Given the description of an element on the screen output the (x, y) to click on. 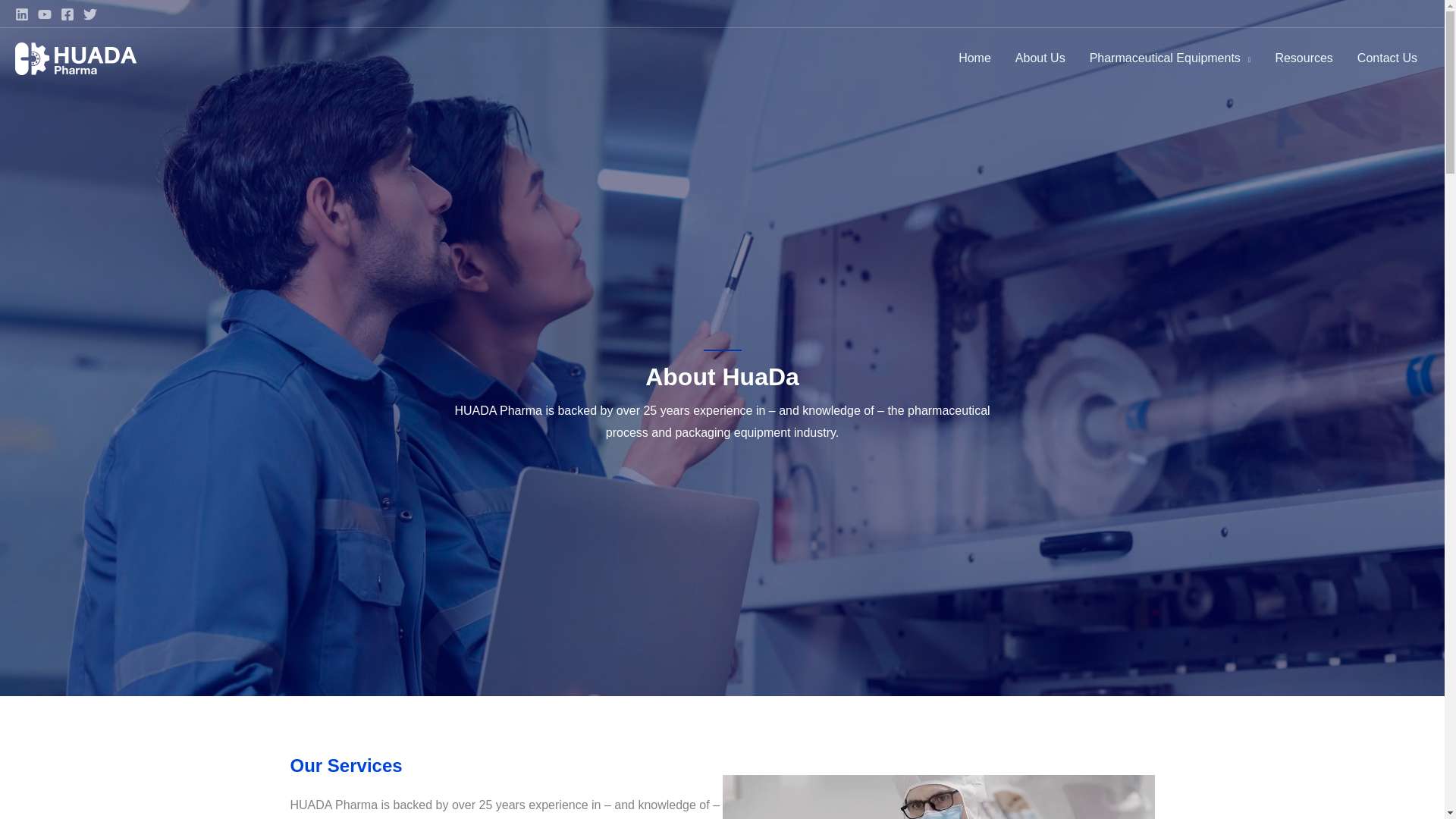
Contact Us (1387, 57)
Pharmaceutical Equipments (1170, 57)
About Us (1040, 57)
Resources (1302, 57)
Home (974, 57)
